Given the description of an element on the screen output the (x, y) to click on. 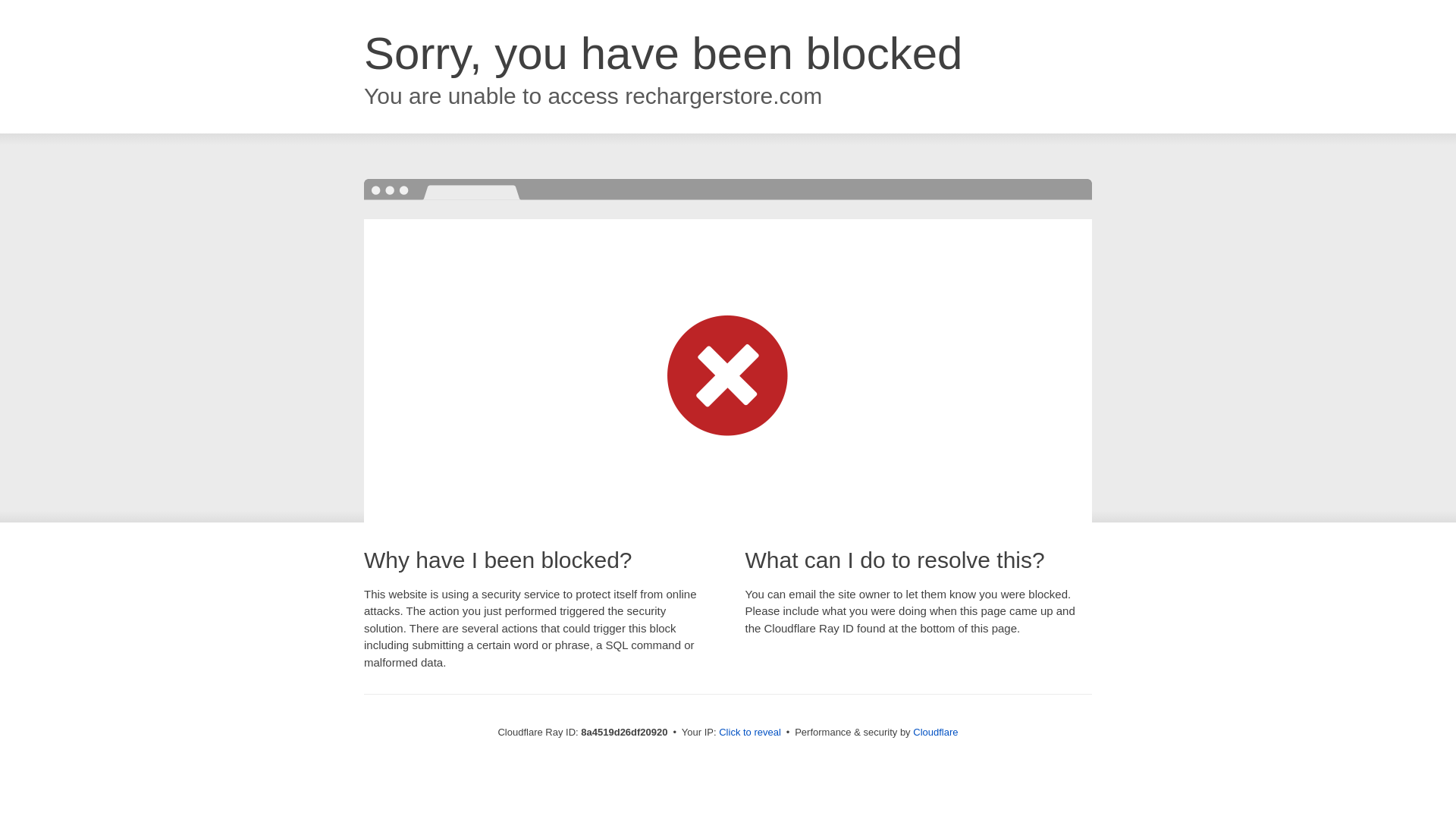
Cloudflare (935, 731)
Click to reveal (749, 732)
